Given the description of an element on the screen output the (x, y) to click on. 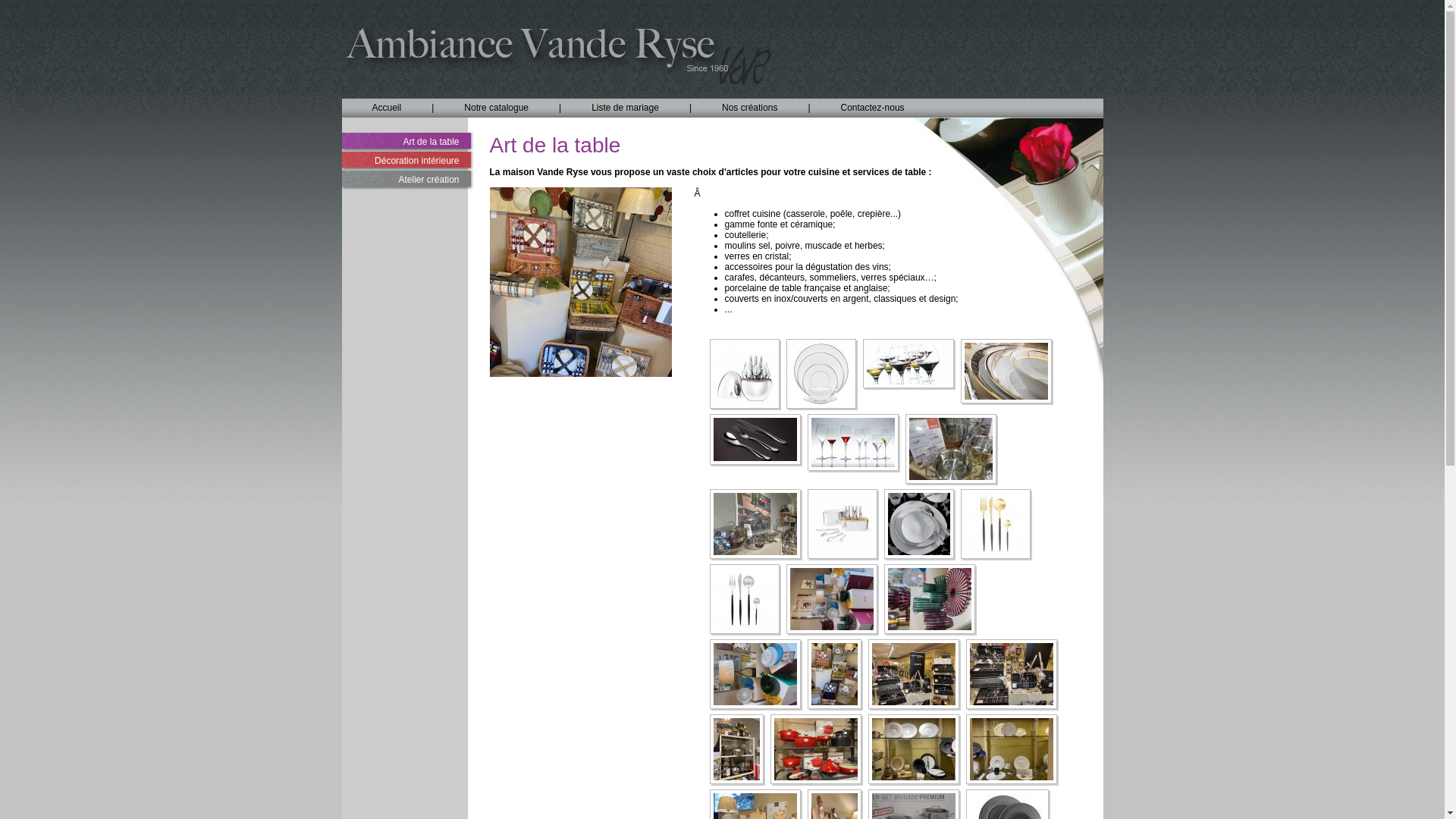
img_6082.jpg Element type: hover (736, 749)
concorde_ouvert_1_1.jpg Element type: hover (841, 523)
img_6085.jpg Element type: hover (1011, 749)
amb-orleans.jpg Element type: hover (1005, 370)
art-de-la-tableliste_de_mariage_070.jpg Element type: hover (851, 442)
img_6081.jpg Element type: hover (1011, 674)
casseroles 2021 010.jpg Element type: hover (754, 523)
img_6084.jpg Element type: hover (912, 749)
img_6083.jpg Element type: hover (815, 749)
00065299-1_3_1.jpg Element type: hover (744, 373)
art-de-la-tableliste_de_mariage_067.jpg Element type: hover (754, 439)
Art de la table Element type: text (407, 141)
img_0263.jpg Element type: hover (830, 598)
img_6080.jpg Element type: hover (912, 674)
goa-cutlery-stainless.jpg Element type: hover (744, 598)
img_5525.jpg Element type: hover (833, 674)
goa-cutlery-set-24-piece-matt-blue-gold-505562.jpg Element type: hover (994, 523)
Contactez-nous Element type: text (872, 107)
Liste de mariage Element type: text (625, 107)
Notre catalogue Element type: text (495, 107)
img_0273.jpg Element type: hover (754, 674)
JoomlaWorks Simple Image Rotator Element type: hover (580, 308)
img_0268.jpg Element type: hover (929, 598)
galet-platine-porcelaine-de-limoges.jpg Element type: hover (918, 523)
16893-650x330-ligne-open-up-de-chef-et-sommelier.jpg Element type: hover (907, 363)
casseroles 2021 009.jpg Element type: hover (950, 448)
032677953143.jpg Element type: hover (820, 373)
Accueil Element type: text (386, 107)
